Given the description of an element on the screen output the (x, y) to click on. 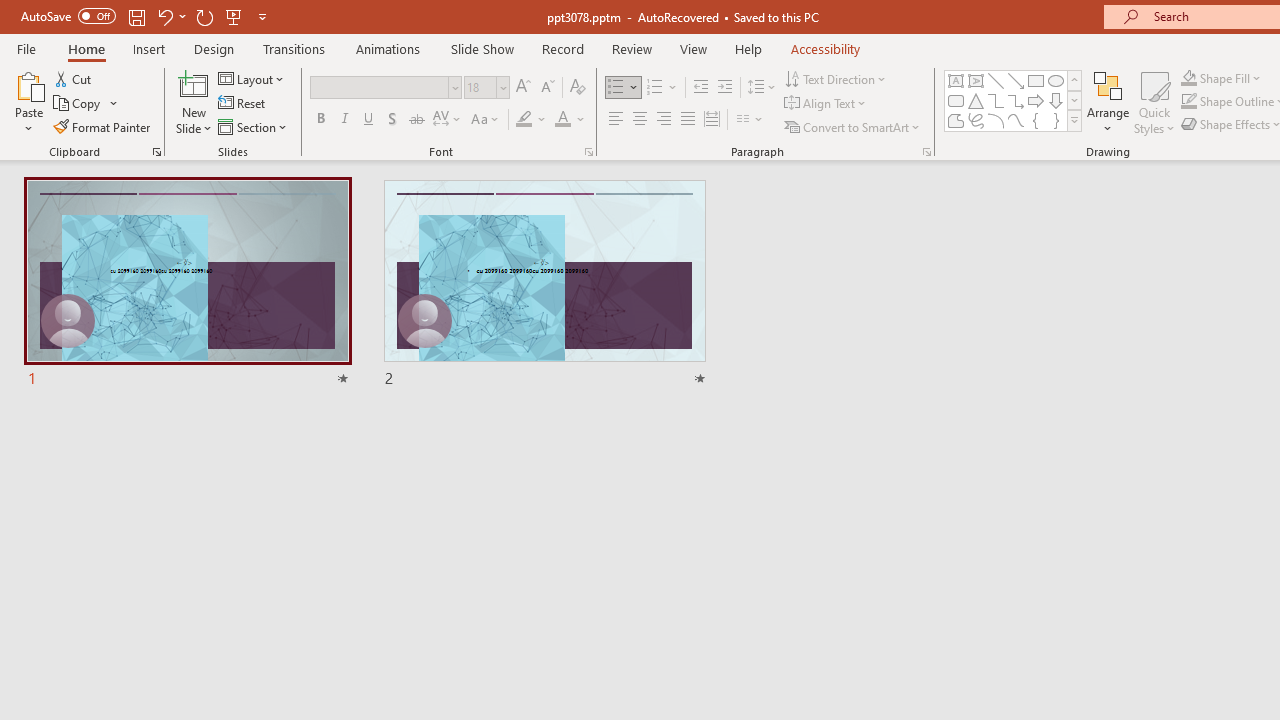
Paragraph... (926, 151)
Change Case (486, 119)
Line (995, 80)
Increase Font Size (522, 87)
Curve (1016, 120)
Office Clipboard... (156, 151)
Shape Fill Dark Green, Accent 2 (1188, 78)
